Given the description of an element on the screen output the (x, y) to click on. 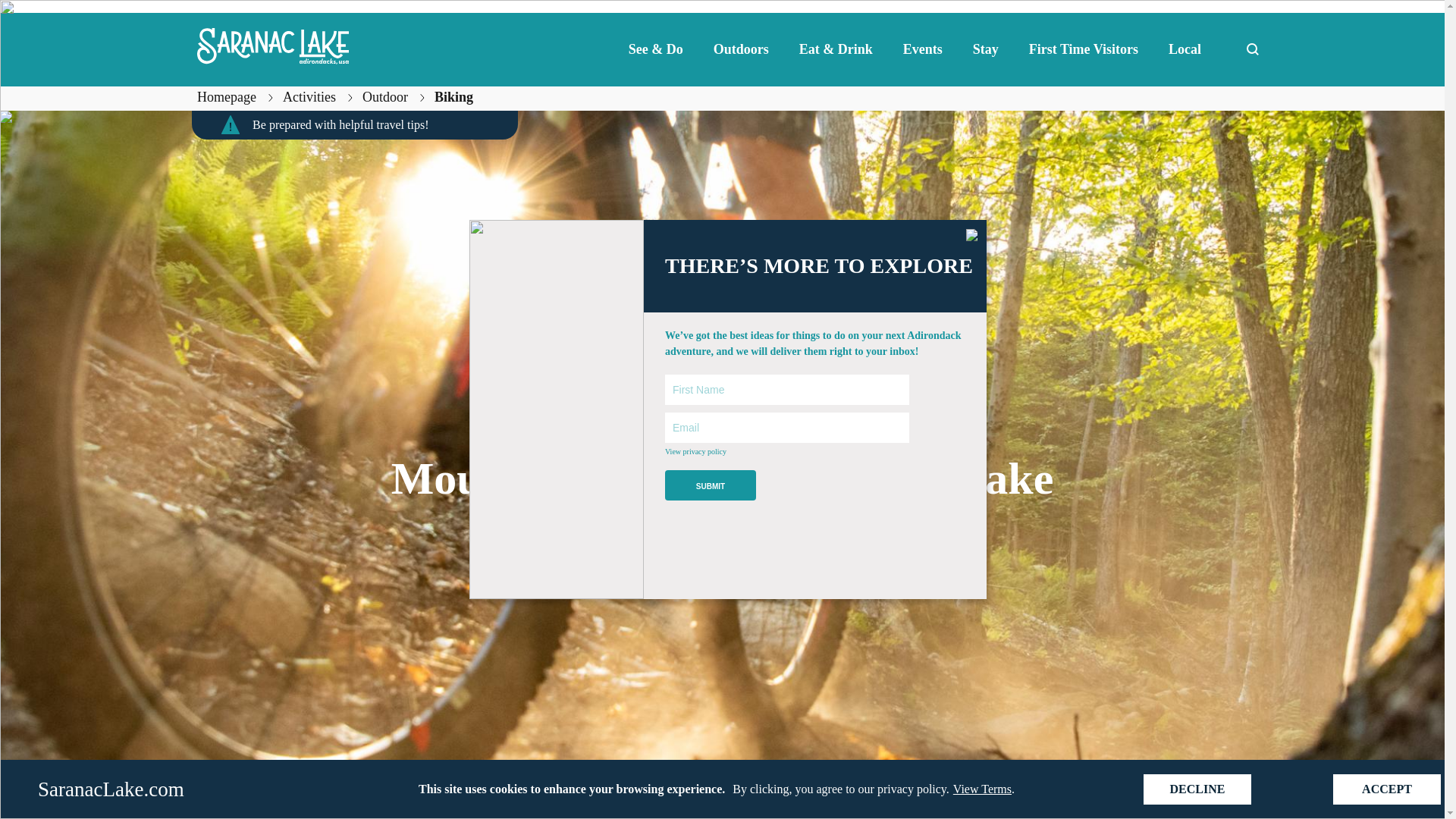
Submit (710, 485)
Outdoors (741, 48)
